Given the description of an element on the screen output the (x, y) to click on. 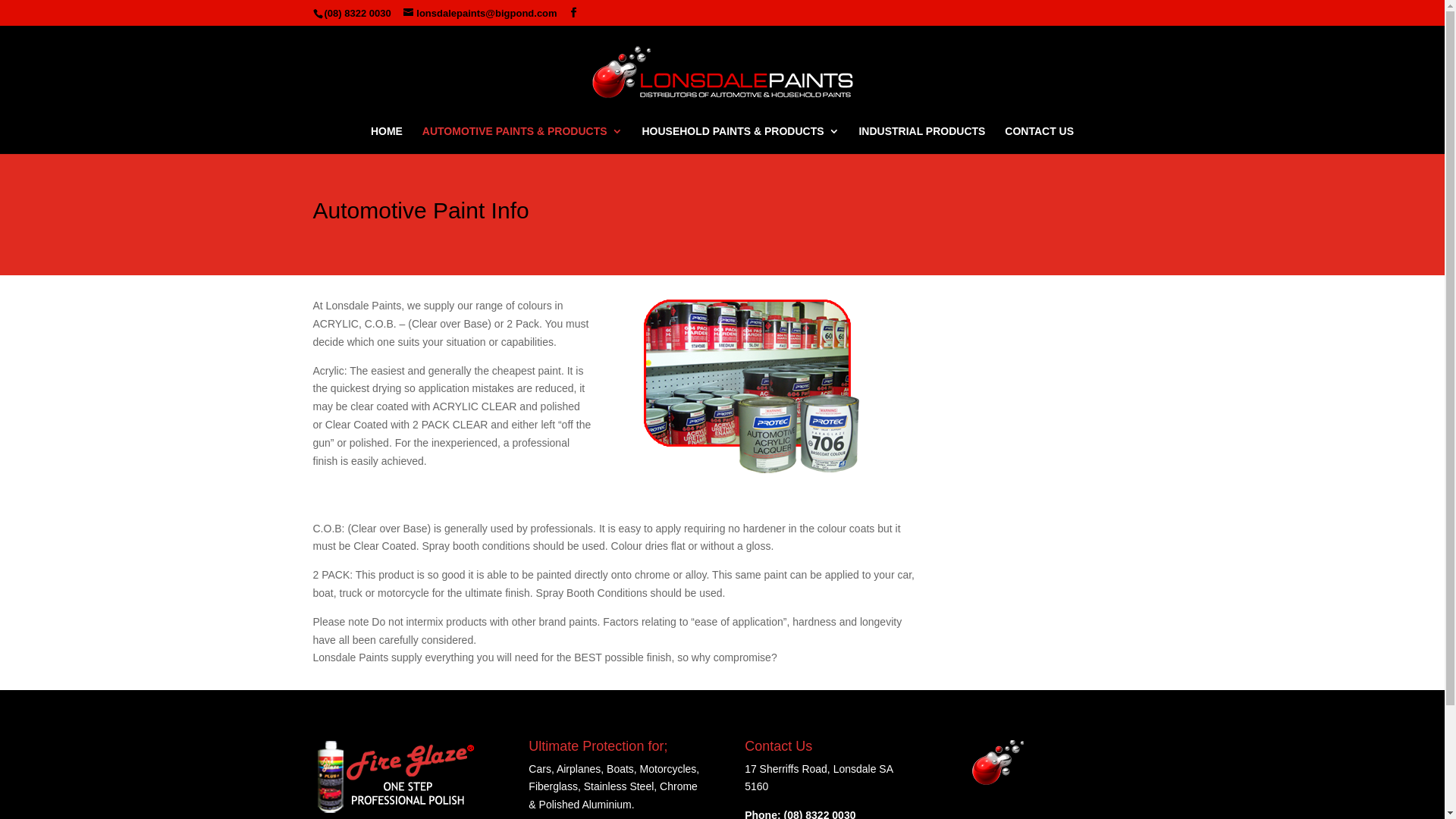
INDUSTRIAL PRODUCTS Element type: text (921, 139)
AUTOMOTIVE PAINTS & PRODUCTS Element type: text (522, 139)
CONTACT US Element type: text (1038, 139)
HOUSEHOLD PAINTS & PRODUCTS Element type: text (739, 139)
lonsdalepaints@bigpond.com Element type: text (479, 12)
HOME Element type: text (386, 139)
PROTEC PAINTS Element type: hover (750, 385)
